Given the description of an element on the screen output the (x, y) to click on. 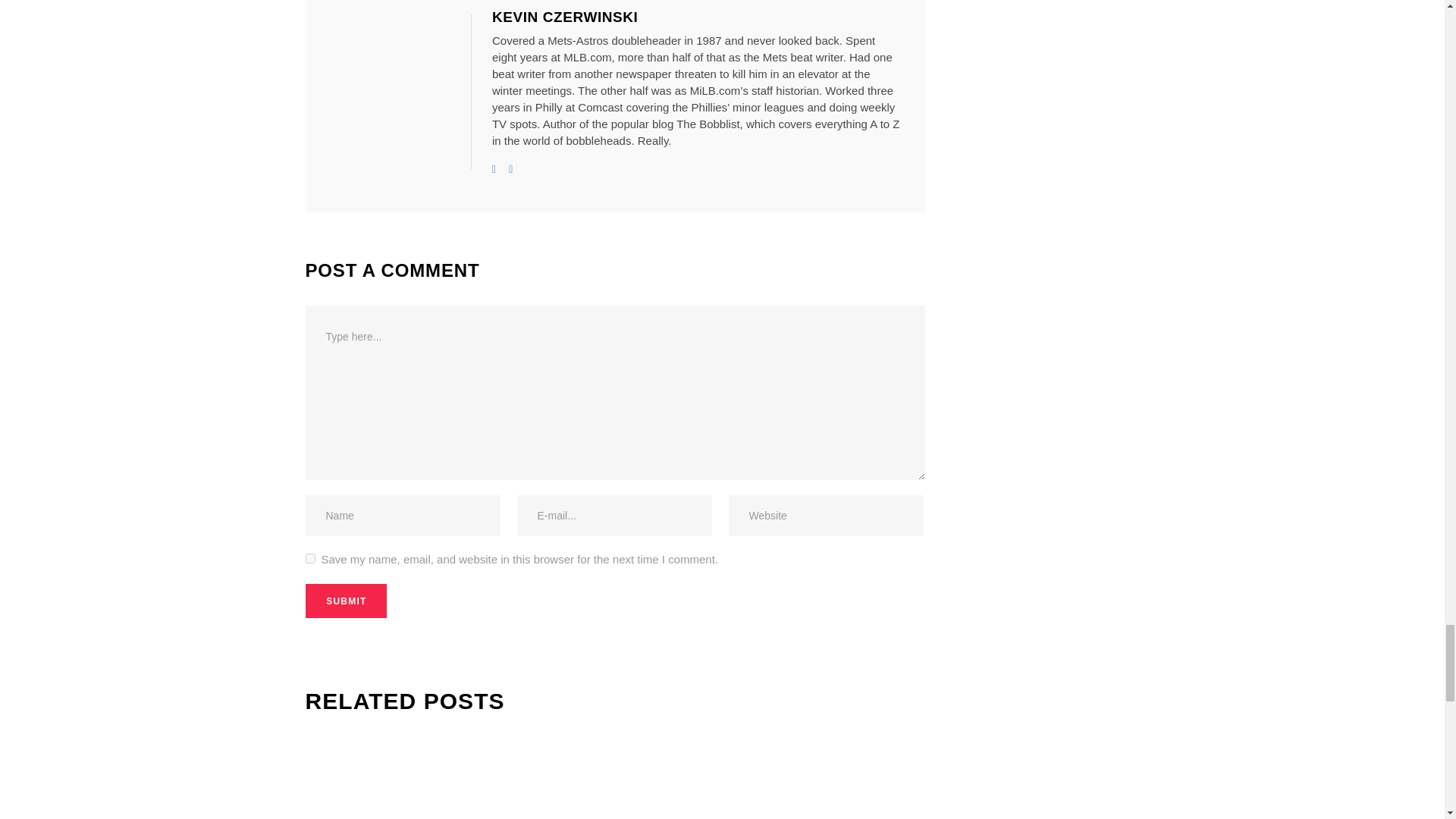
yes (309, 558)
